Given the description of an element on the screen output the (x, y) to click on. 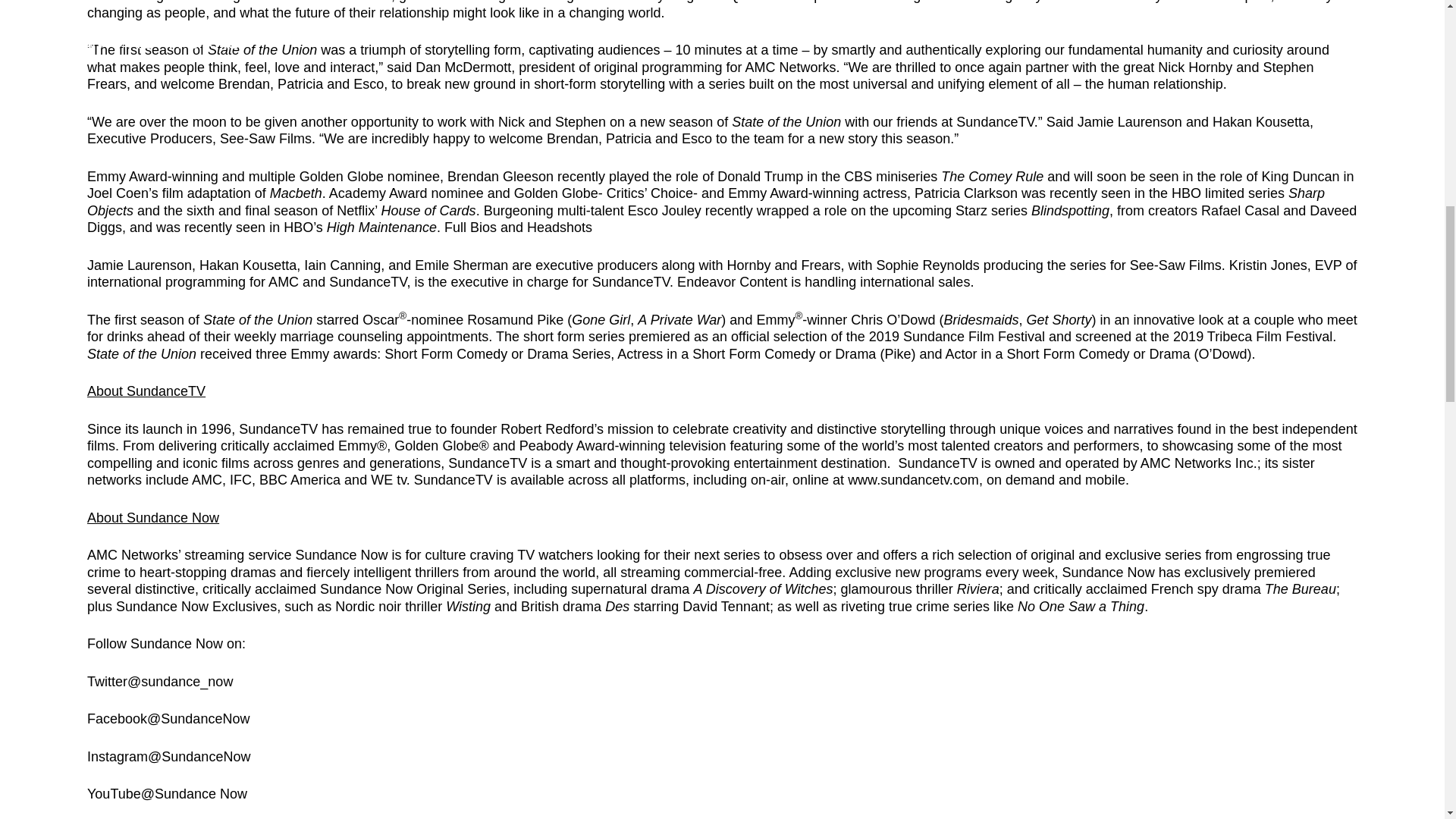
Full Bios and Headshots (518, 227)
Sundance Now (341, 554)
www.sundancetv.com (912, 479)
